Given the description of an element on the screen output the (x, y) to click on. 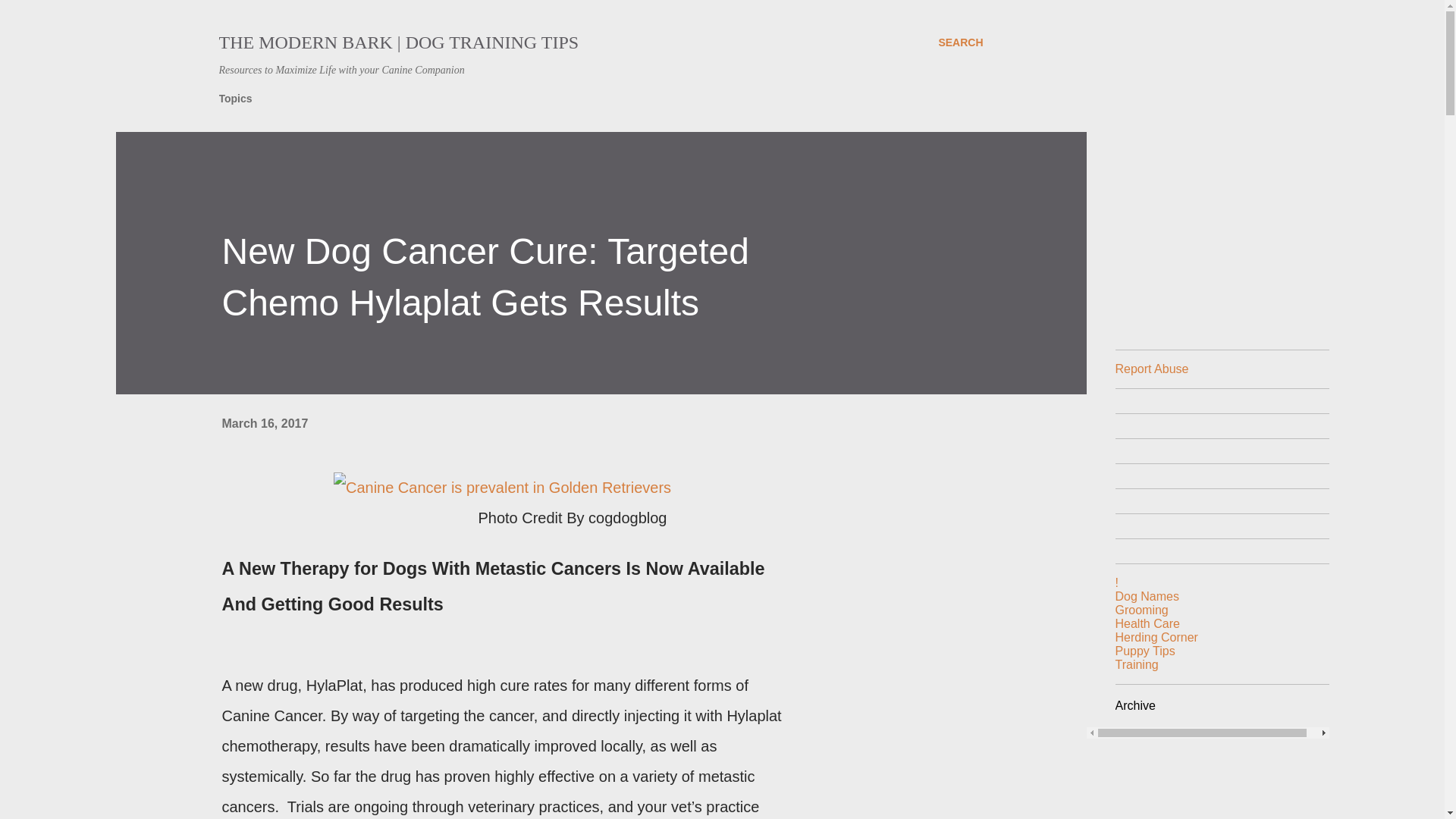
March 16, 2017 (264, 422)
SEARCH (959, 42)
Golden Retrievers are a breed with high cancer rates (502, 487)
permanent link (264, 422)
